Given the description of an element on the screen output the (x, y) to click on. 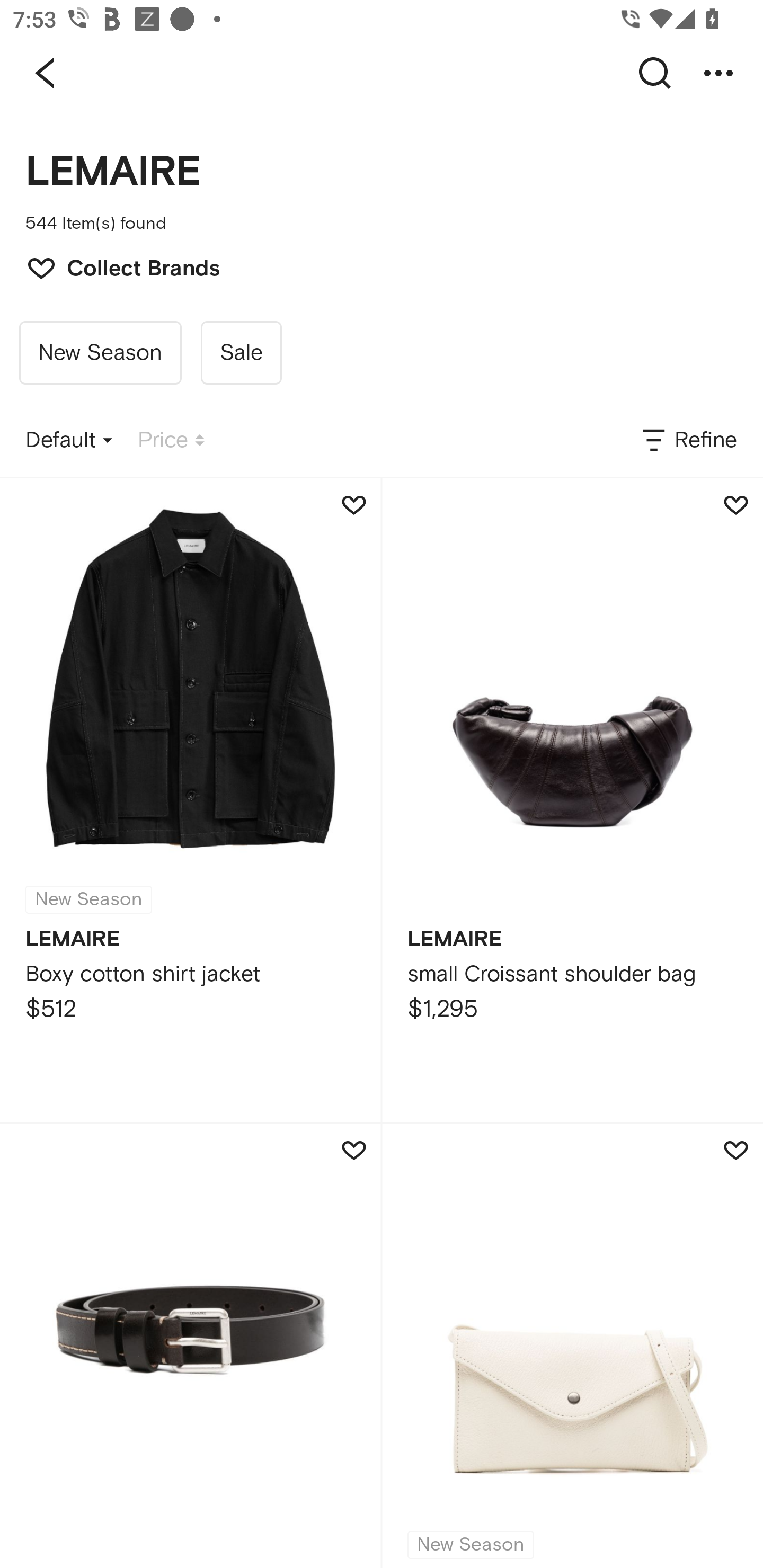
Collect Brands (114, 266)
New Season (100, 352)
Sale (240, 352)
Default (68, 440)
Price (171, 440)
Refine (688, 440)
New Season LEMAIRE Boxy cotton shirt jacket $512 (190, 800)
LEMAIRE small Croissant shoulder bag $1,295 (572, 800)
New Season (572, 1346)
